Given the description of an element on the screen output the (x, y) to click on. 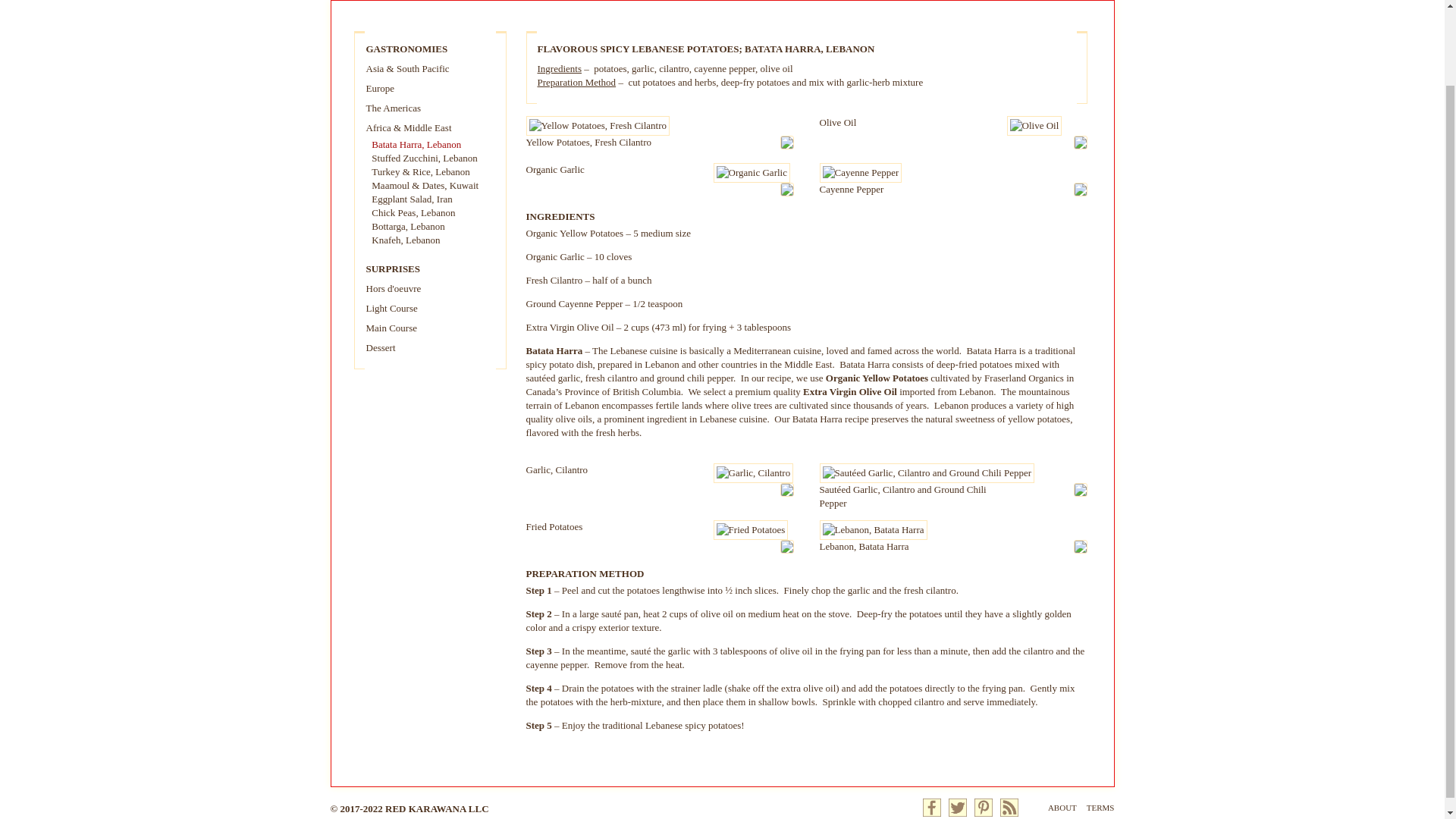
 Twitter (957, 807)
 Pinterest (983, 807)
 RSS (1008, 807)
Ingredients (558, 68)
Preparation Method (576, 81)
 Facebook (931, 807)
Europe (379, 88)
